Given the description of an element on the screen output the (x, y) to click on. 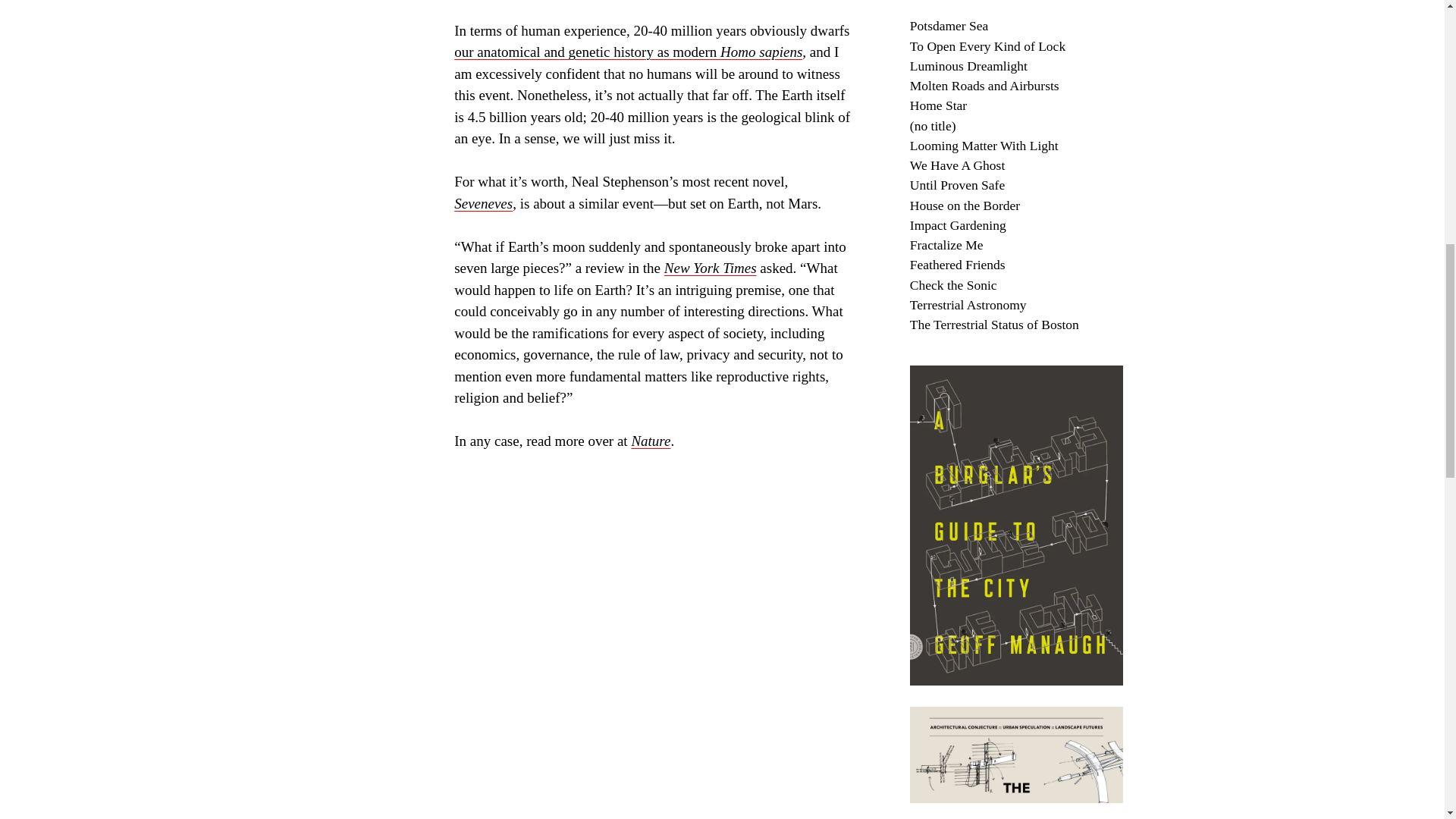
New York Times (710, 268)
Nature (649, 440)
Numbers Pool (948, 6)
Potsdamer Sea (949, 25)
To Open Every Kind of Lock (987, 46)
our anatomical and genetic history as modern Homo sapiens (628, 51)
Seveneves (483, 203)
Molten Roads and Airbursts (984, 85)
Luminous Dreamlight (968, 65)
